Given the description of an element on the screen output the (x, y) to click on. 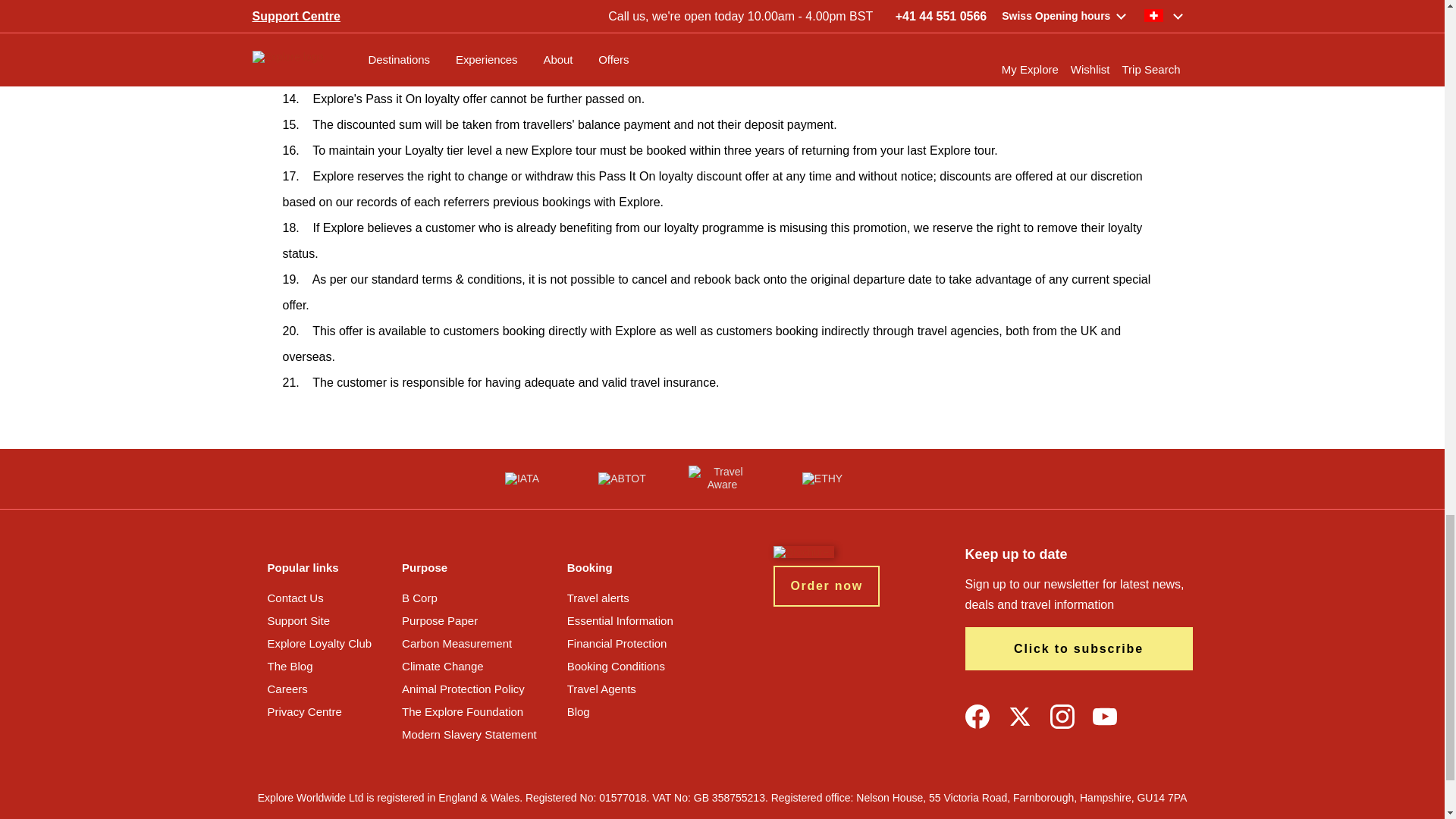
YouTube (1104, 716)
Instagram (1061, 716)
Facebook (975, 716)
Twitter (1018, 716)
